Given the description of an element on the screen output the (x, y) to click on. 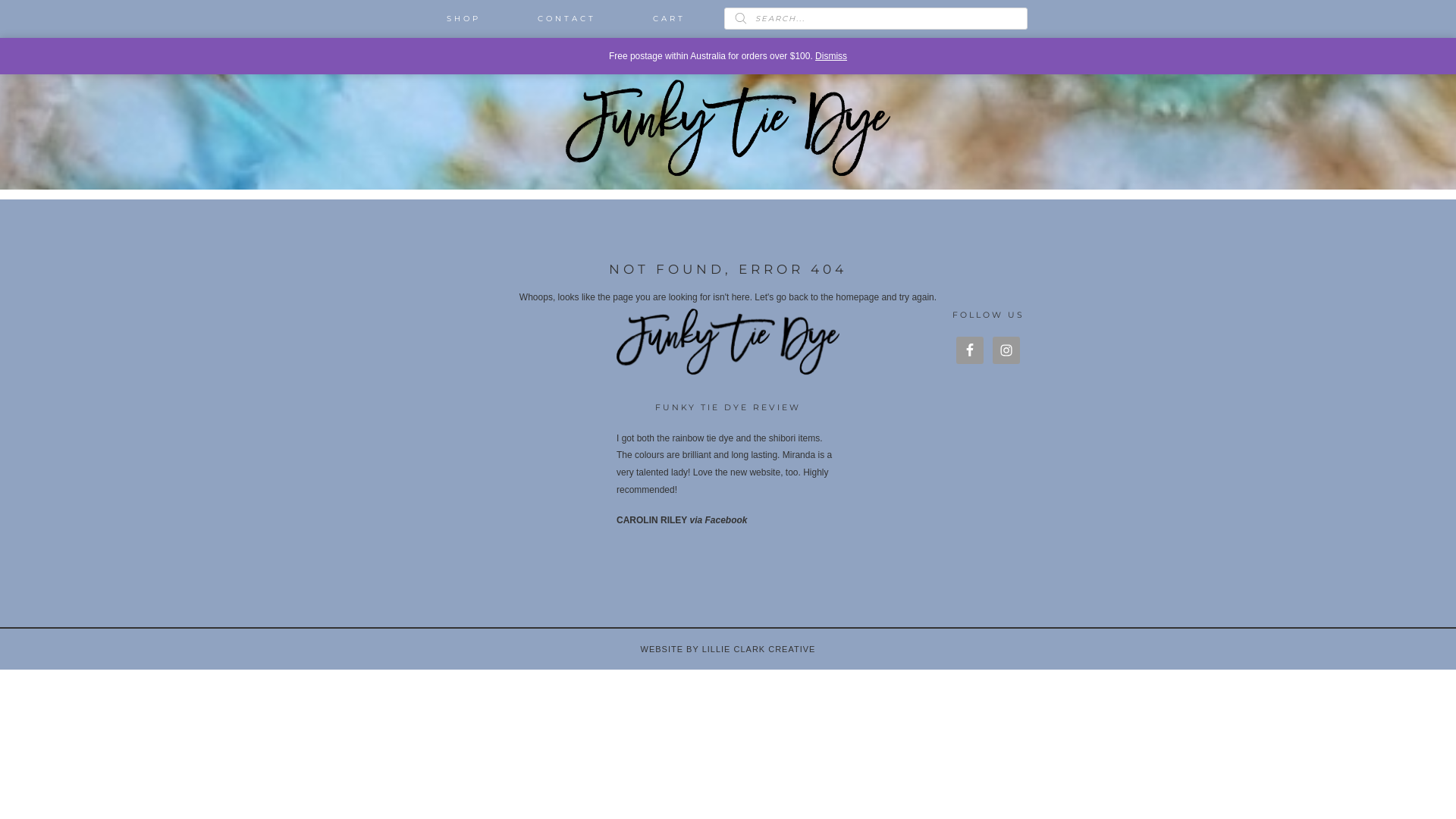
homepage Element type: text (856, 296)
CART Element type: text (668, 18)
CONTACT Element type: text (566, 18)
Dismiss Element type: text (831, 55)
SHOP Element type: text (463, 18)
